Given the description of an element on the screen output the (x, y) to click on. 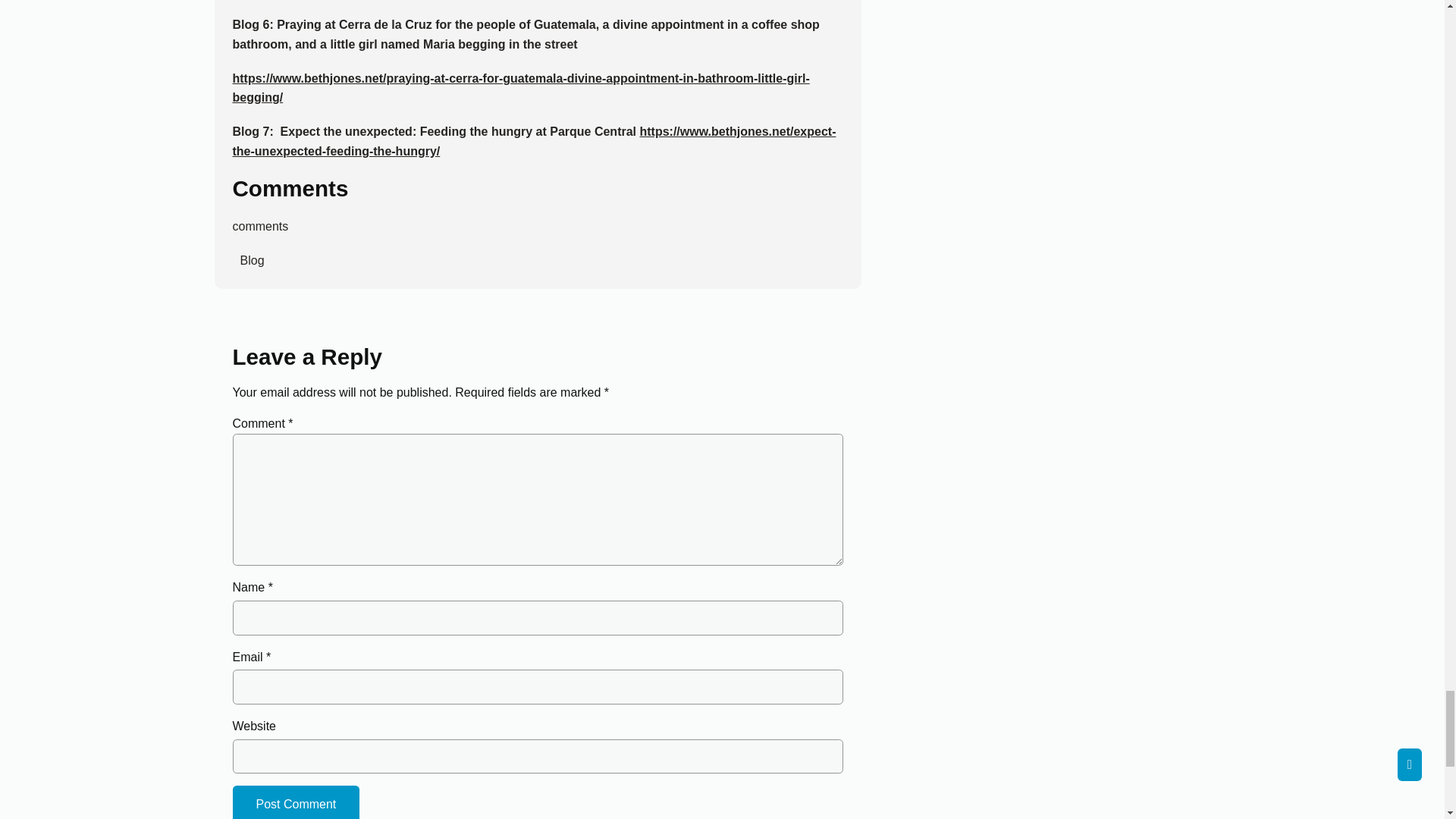
Post Comment (295, 802)
Post Comment (295, 802)
Blog (247, 259)
